Given the description of an element on the screen output the (x, y) to click on. 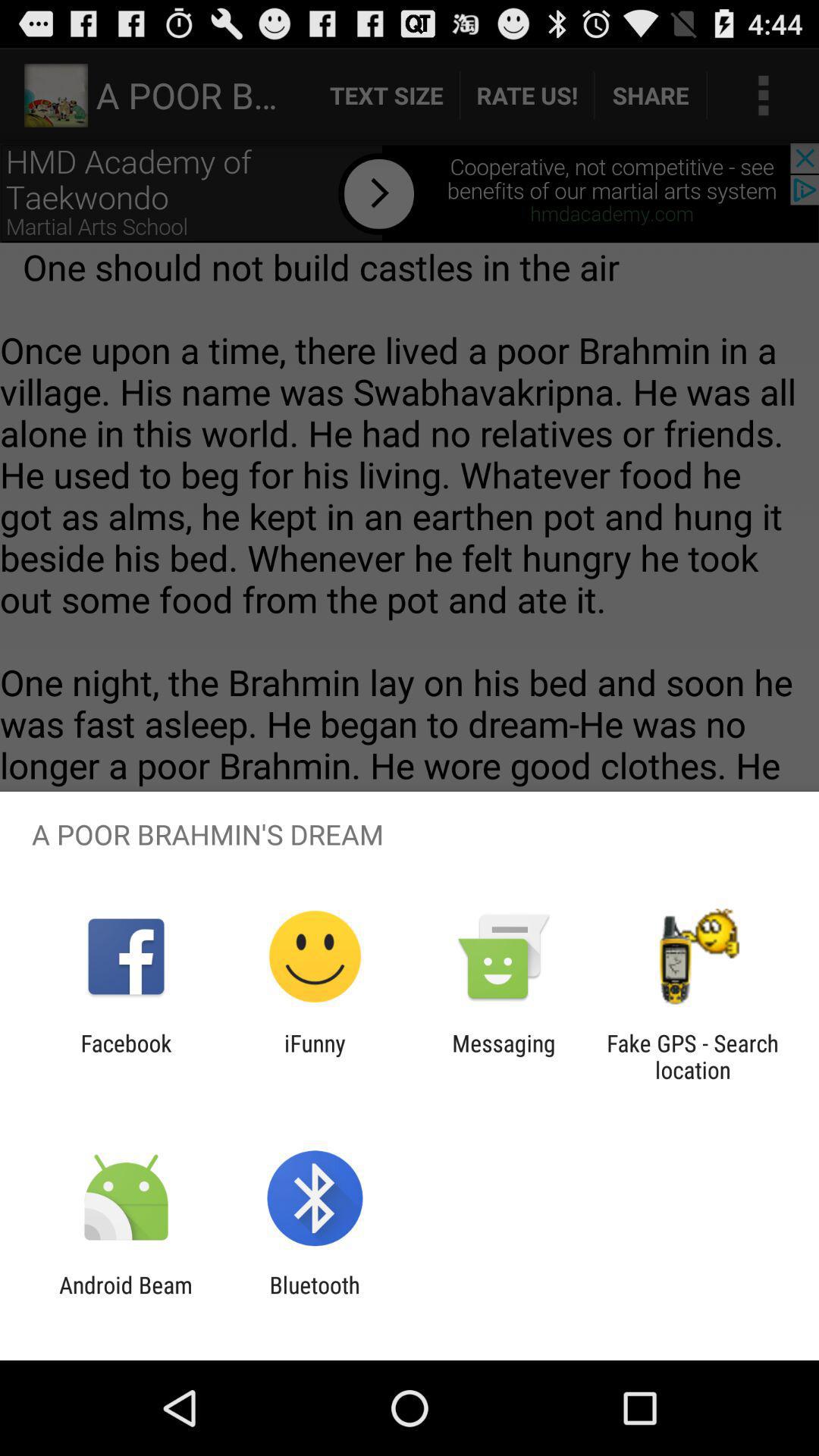
turn on the icon to the left of fake gps search item (503, 1056)
